Given the description of an element on the screen output the (x, y) to click on. 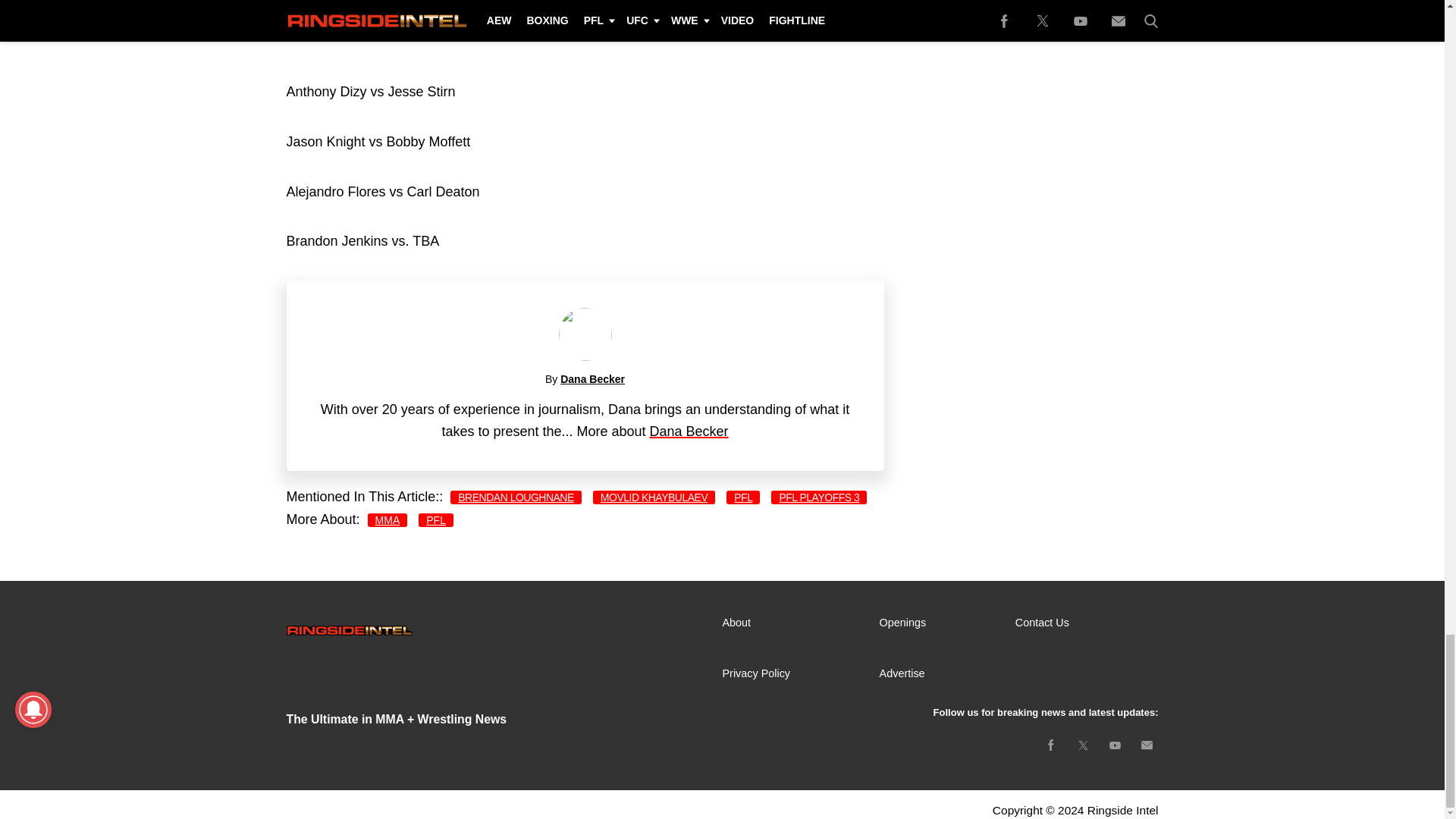
Dana Becker (592, 378)
BRENDAN LOUGHNANE (514, 497)
PFL PLAYOFFS 3 (818, 497)
MMA (387, 520)
PFL (435, 520)
MOVLID KHAYBULAEV (653, 497)
Dana Becker (689, 431)
PFL (743, 497)
